Given the description of an element on the screen output the (x, y) to click on. 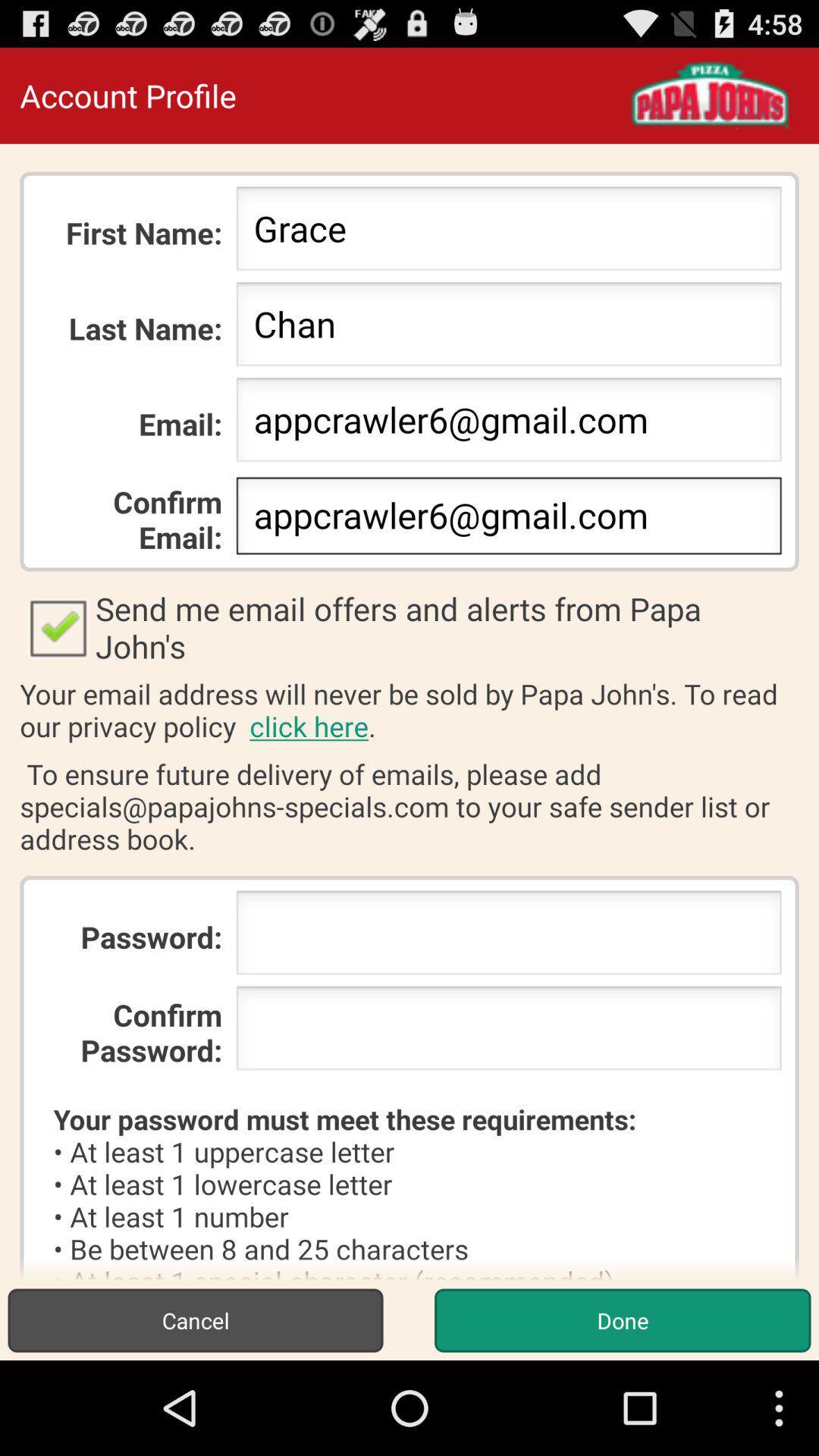
open the grace (508, 232)
